Given the description of an element on the screen output the (x, y) to click on. 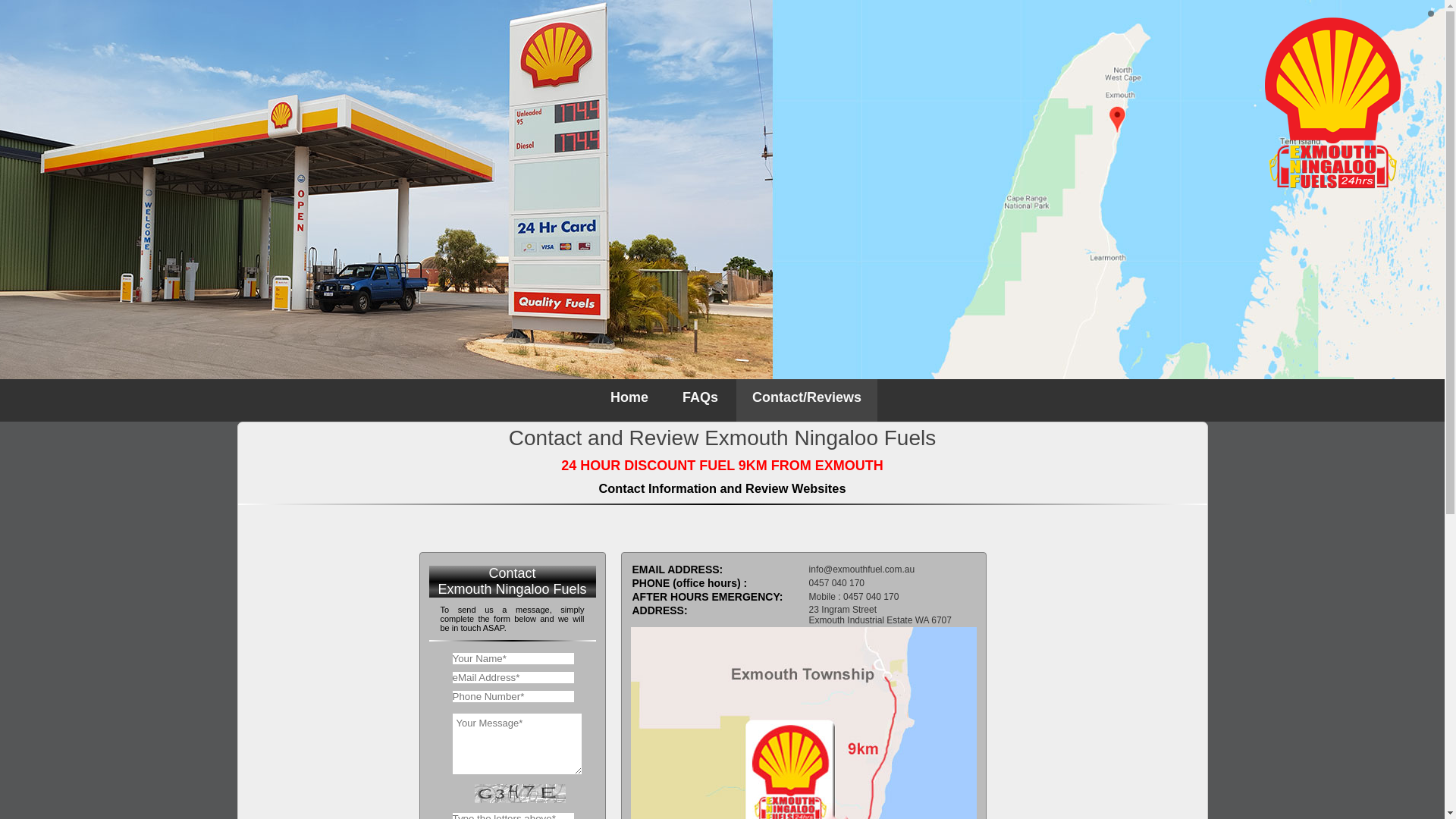
Home Element type: text (629, 400)
Contact/Reviews Element type: text (806, 400)
FAQs Element type: text (700, 400)
